Given the description of an element on the screen output the (x, y) to click on. 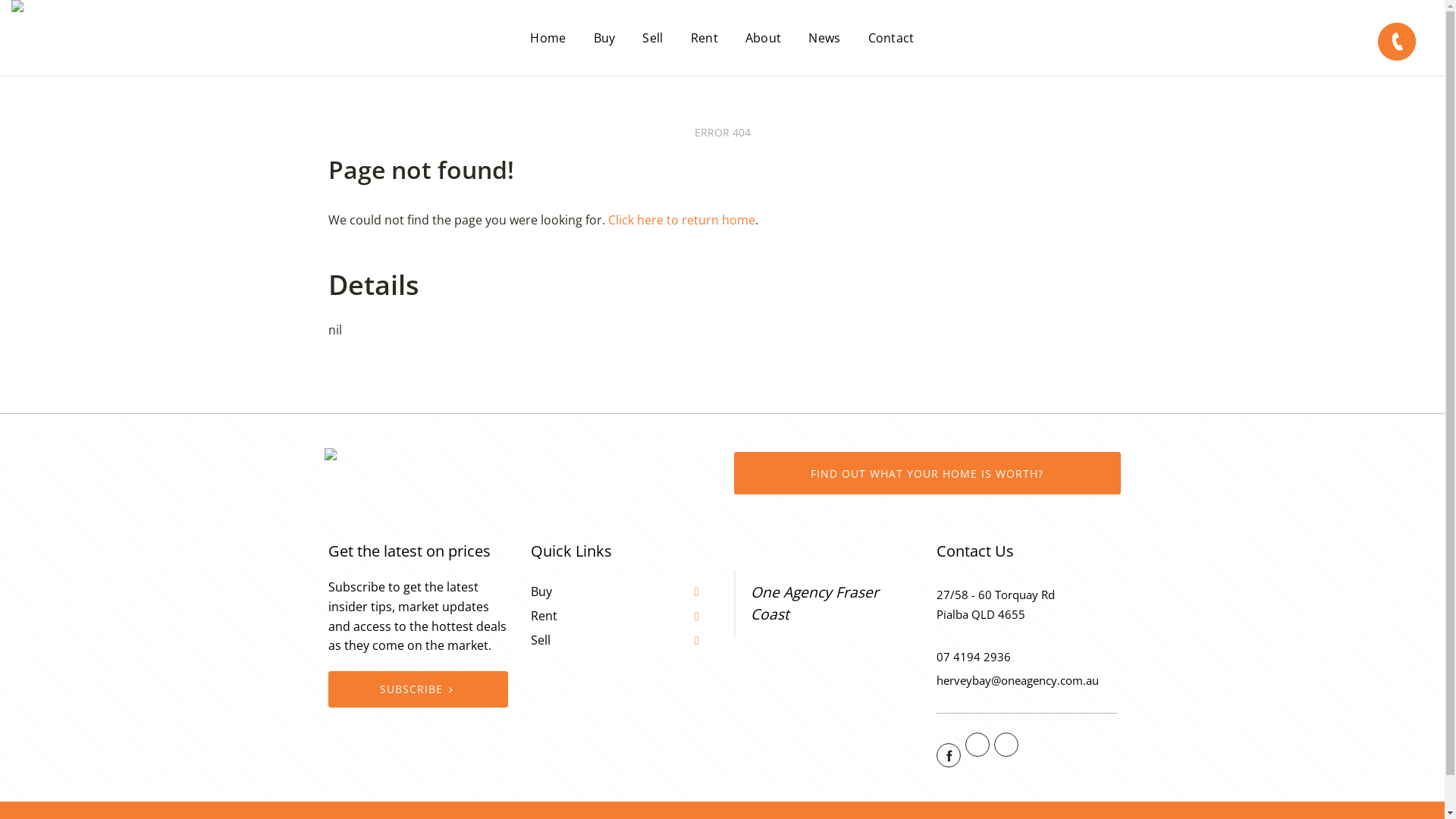
News Element type: text (824, 37)
One Agency Fraser Coast Element type: text (814, 602)
FIND OUT WHAT YOUR HOME IS WORTH? Element type: text (927, 473)
Click here to return home Element type: text (681, 219)
SUBSCRIBE Element type: text (417, 689)
Buy Element type: text (604, 37)
About Element type: text (763, 37)
Contact Element type: text (891, 37)
Home Element type: text (547, 37)
Rent Element type: text (704, 37)
Sell Element type: text (652, 37)
07 4194 2936 Element type: text (973, 656)
herveybay@oneagency.com.au Element type: text (1017, 679)
